Given the description of an element on the screen output the (x, y) to click on. 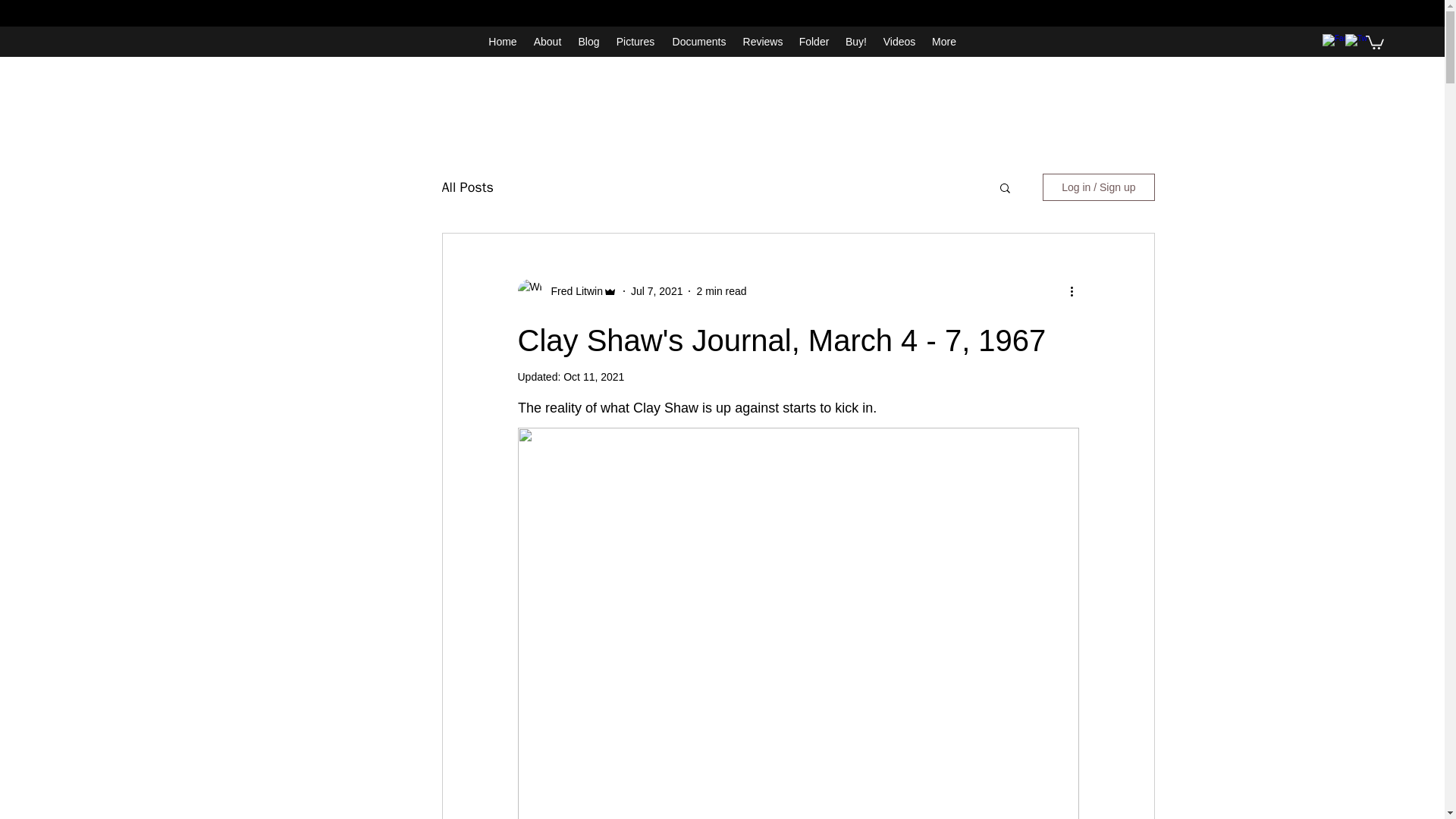
Home (502, 41)
All Posts (467, 187)
Videos (899, 41)
Oct 11, 2021 (593, 377)
Blog (589, 41)
Pictures (635, 41)
Reviews (762, 41)
Jul 7, 2021 (656, 291)
2 min read (720, 291)
Fred Litwin (571, 291)
